Given the description of an element on the screen output the (x, y) to click on. 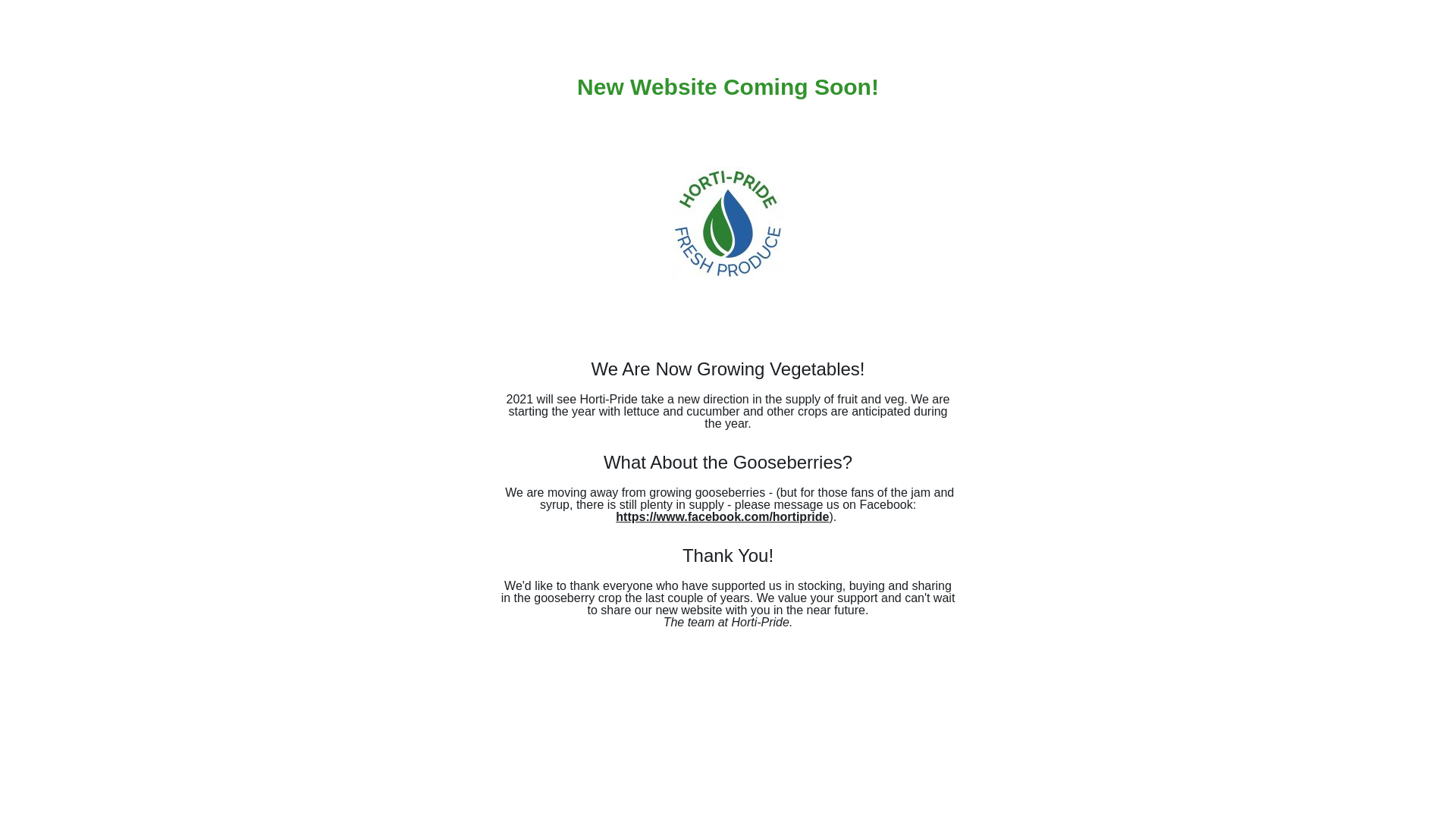
https://www.facebook.com/hortipride Element type: text (721, 516)
